Given the description of an element on the screen output the (x, y) to click on. 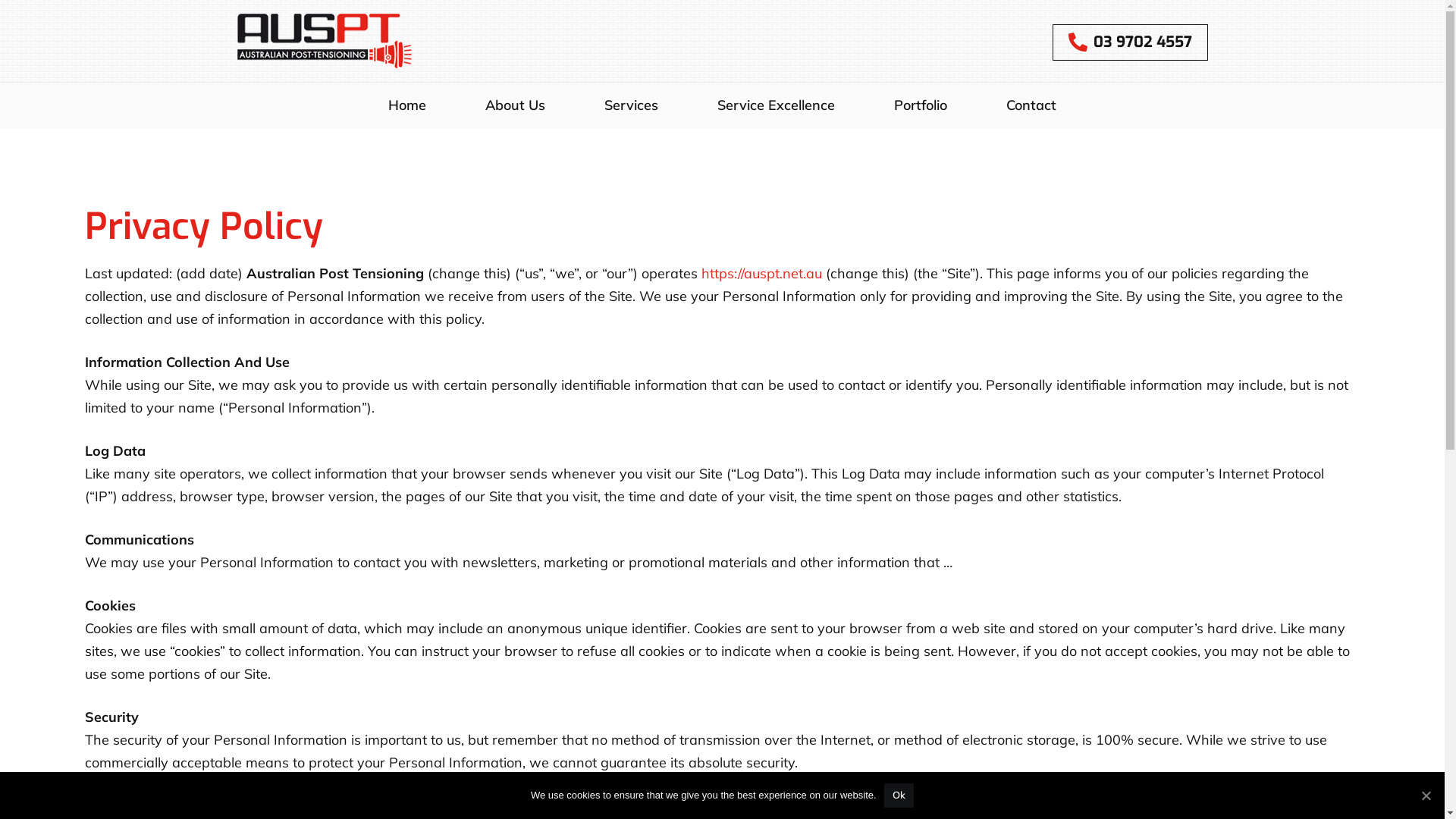
Services Element type: text (630, 105)
Home Element type: text (406, 105)
03 9702 4557 Element type: text (1130, 42)
About Us Element type: text (514, 105)
https://auspt.net.au Element type: text (761, 273)
Contact Element type: text (1030, 105)
Service Excellence Element type: text (775, 105)
Portfolio Element type: text (920, 105)
Ok Element type: text (899, 794)
